Given the description of an element on the screen output the (x, y) to click on. 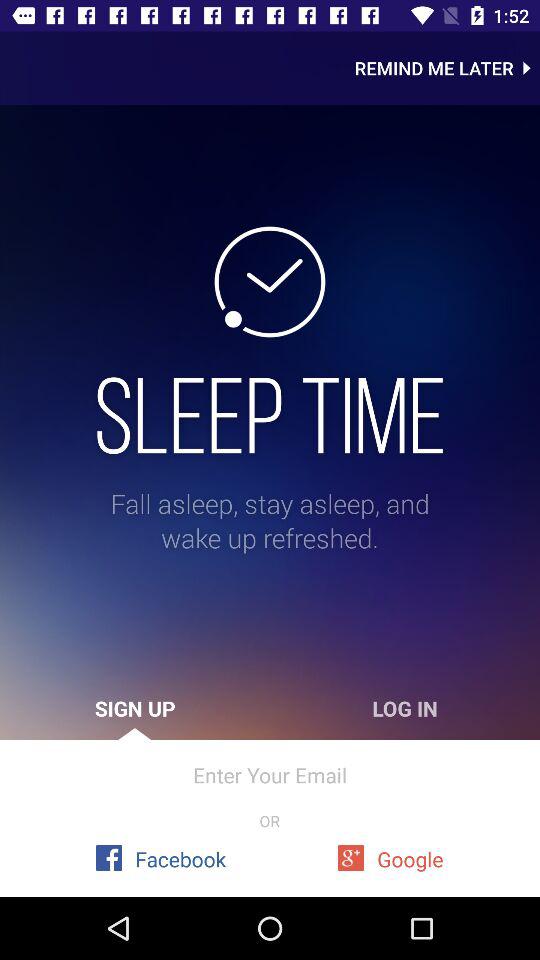
flip until enter your email item (270, 774)
